Given the description of an element on the screen output the (x, y) to click on. 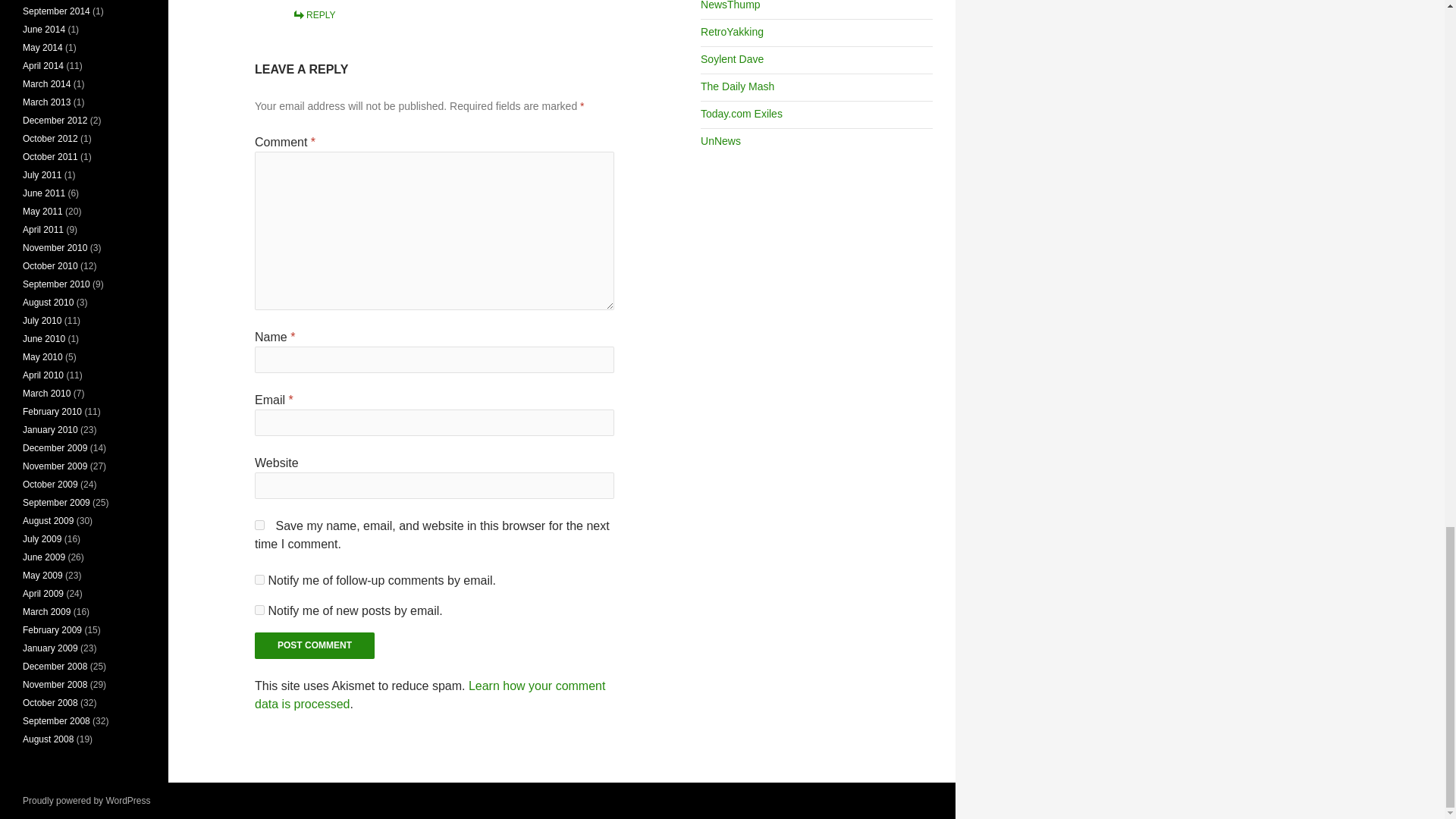
Post Comment (314, 645)
subscribe (259, 610)
yes (259, 524)
Post Comment (314, 645)
Learn how your comment data is processed (429, 694)
Unimaginative Pseudonym (731, 59)
subscribe (259, 579)
NewsThump (730, 5)
REPLY (313, 14)
Northern humour with Harry Yack (731, 31)
